Given the description of an element on the screen output the (x, y) to click on. 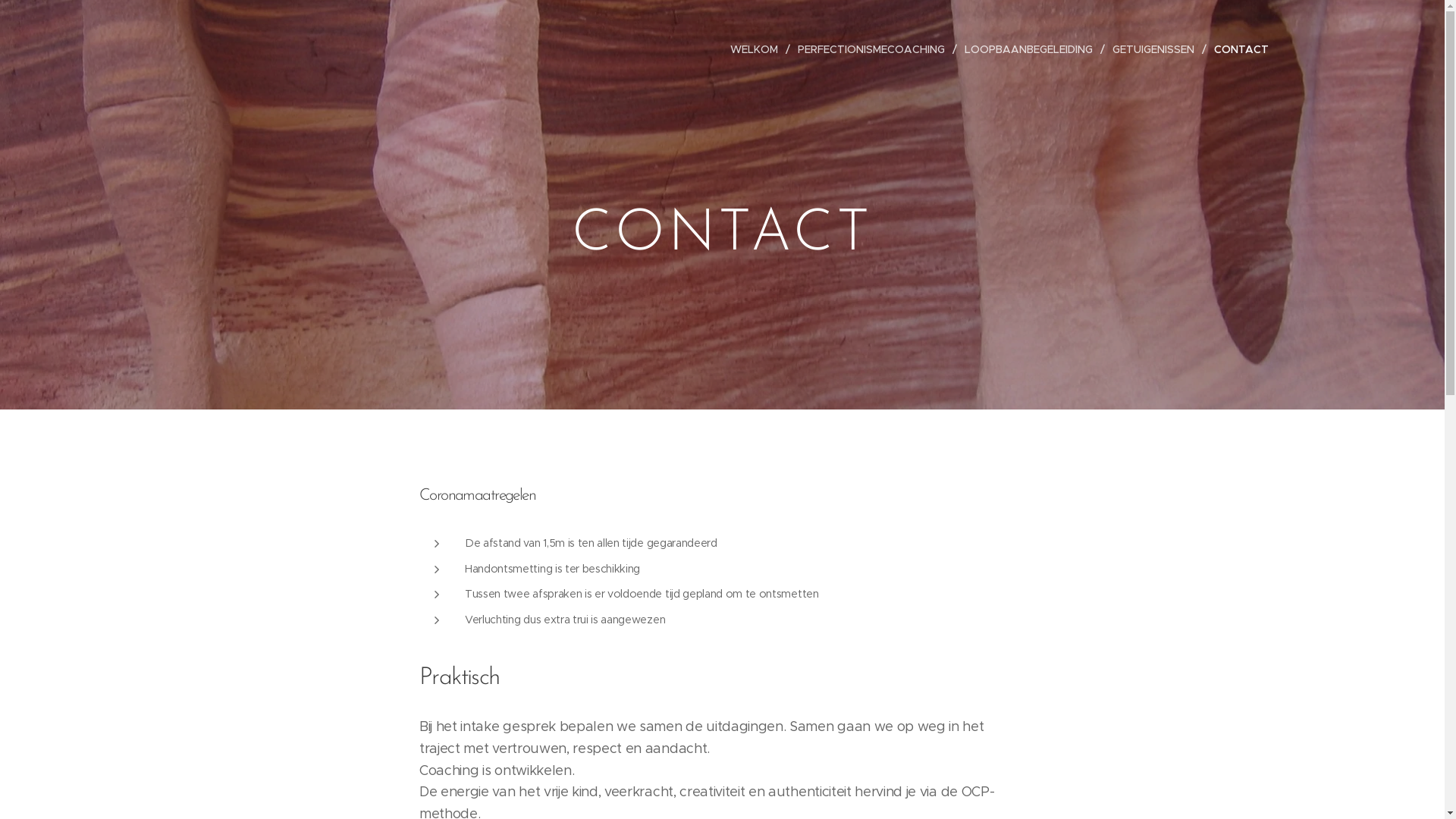
PERFECTIONISMECOACHING Element type: text (873, 49)
WELKOM Element type: text (758, 49)
LOOPBAANBEGELEIDING Element type: text (1030, 49)
GETUIGENISSEN Element type: text (1154, 49)
CONTACT Element type: text (1236, 49)
